Given the description of an element on the screen output the (x, y) to click on. 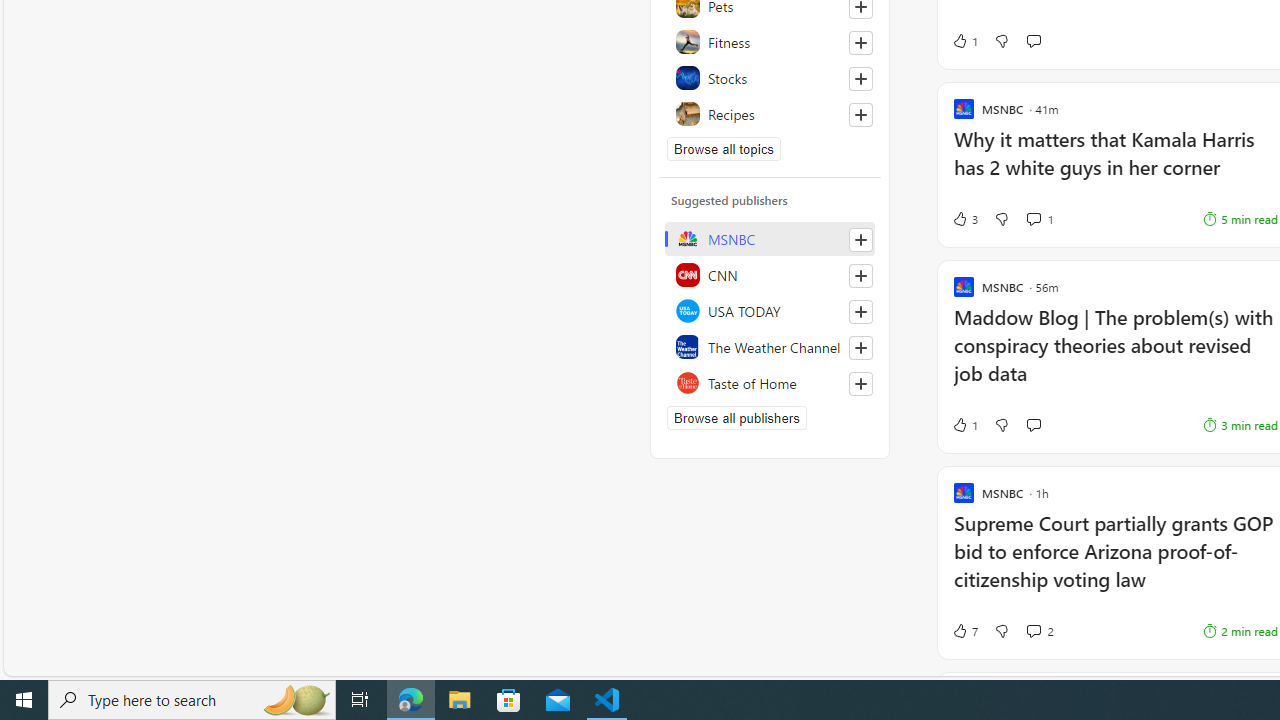
Taste of Home (770, 382)
Follow this source (860, 384)
The Weather Channel (770, 346)
1 Like (964, 425)
CNN (770, 274)
Recipes (770, 114)
View comments 2 Comment (1039, 630)
Stocks (770, 78)
Browse all publishers (736, 417)
View comments 1 Comment (1033, 218)
